Given the description of an element on the screen output the (x, y) to click on. 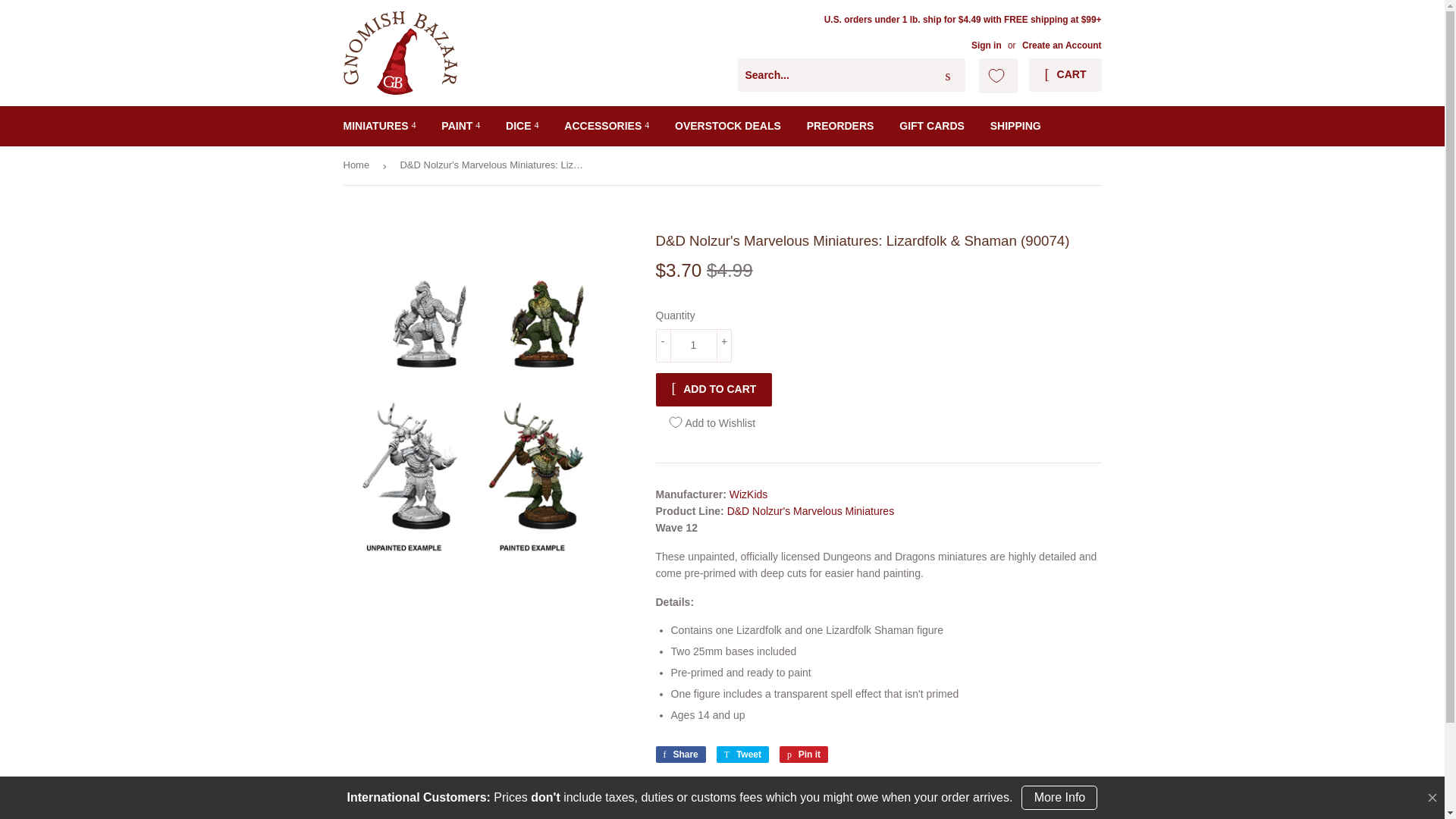
Go (948, 75)
Create an Account (1062, 45)
Pin on Pinterest (803, 754)
Add to Wishlist (719, 422)
1 (692, 345)
CART (1064, 74)
Manufacturer: WizKids (748, 494)
Tweet on Twitter (742, 754)
Sign in (986, 45)
Share on Facebook (679, 754)
